Given the description of an element on the screen output the (x, y) to click on. 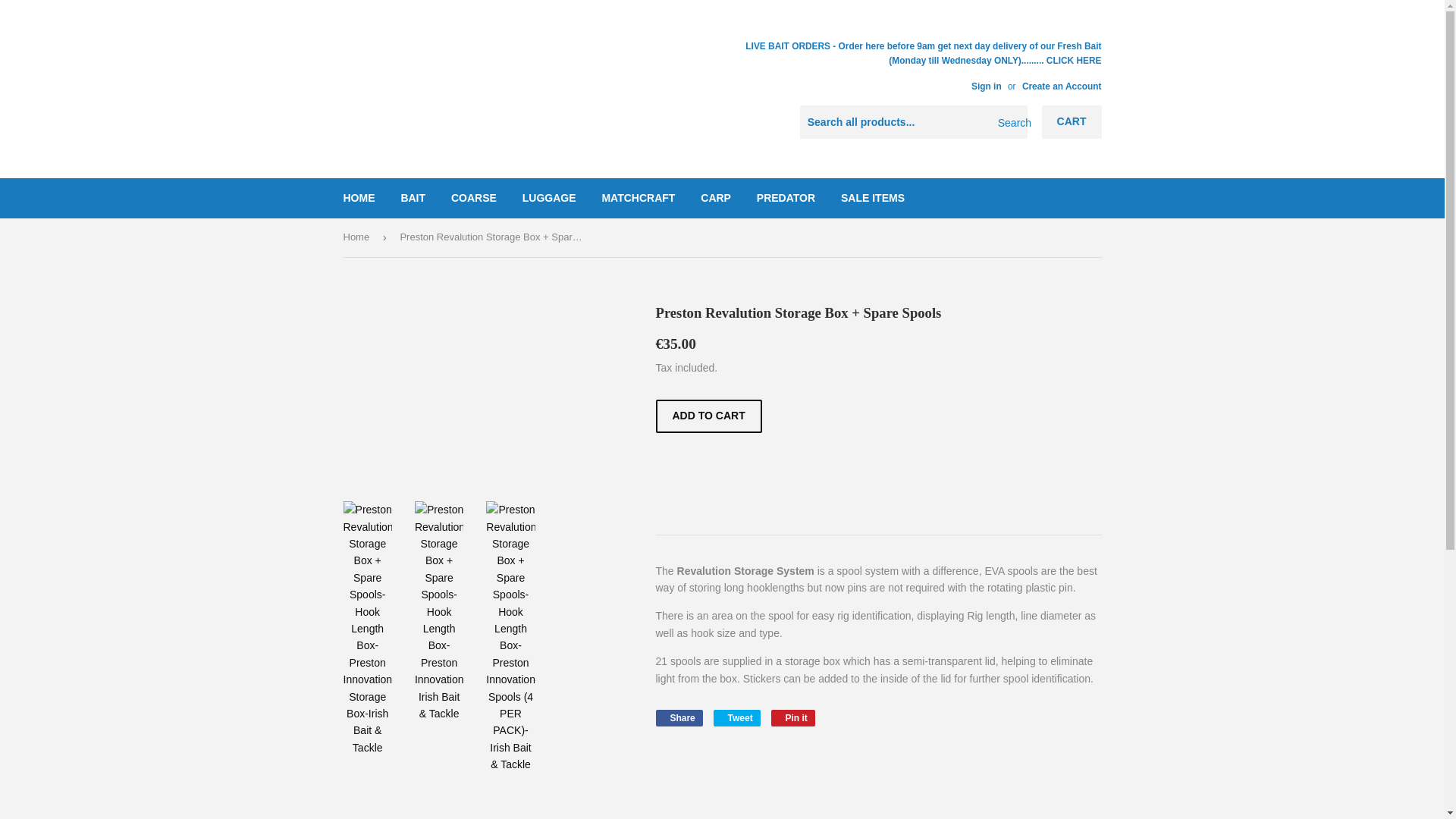
Share on Facebook (678, 718)
Sign in (986, 86)
Search (1009, 122)
Create an Account (1062, 86)
CART (1072, 121)
Pin on Pinterest (793, 718)
Tweet on Twitter (736, 718)
